Given the description of an element on the screen output the (x, y) to click on. 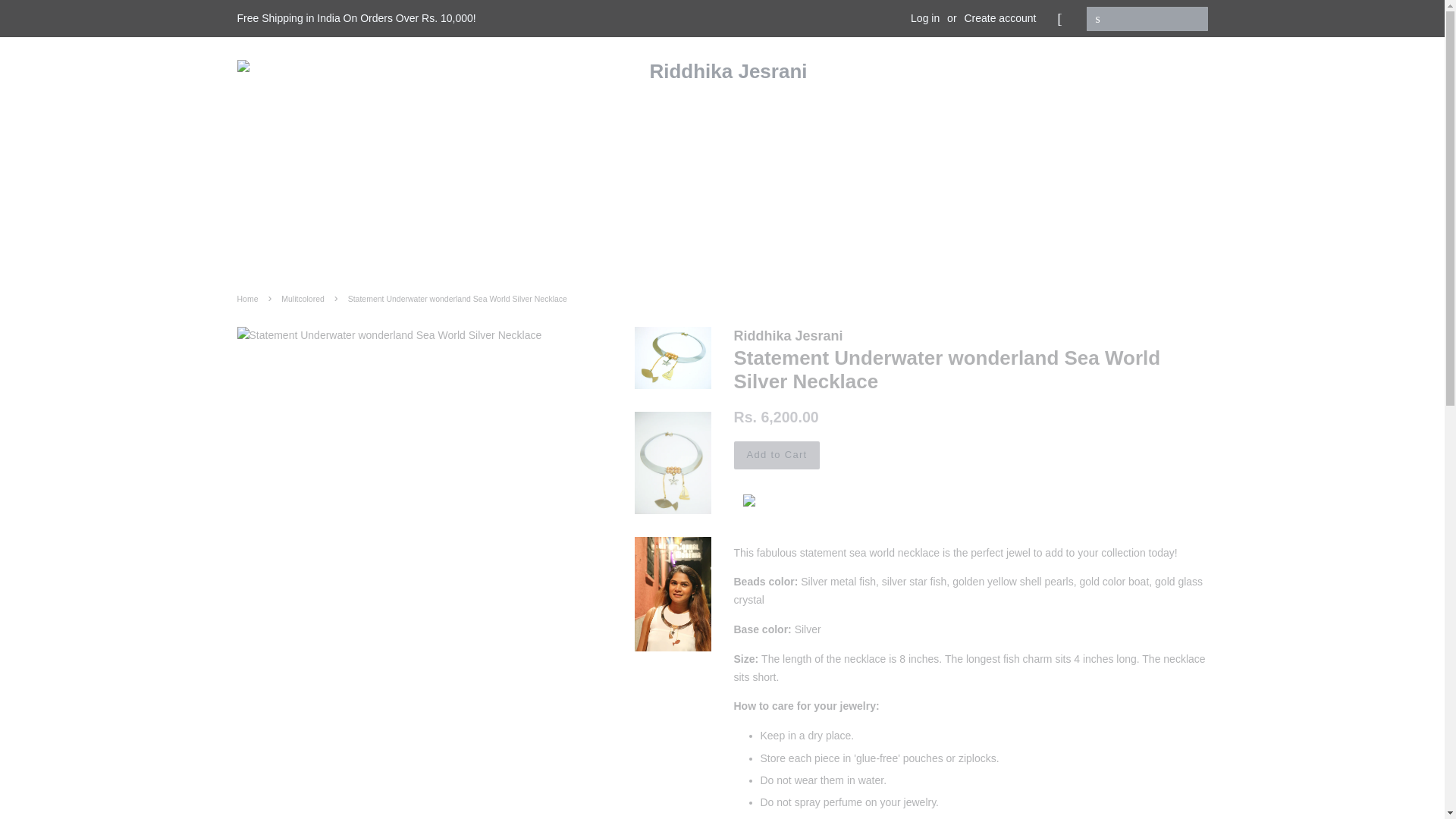
Log in (925, 18)
Search (1097, 18)
Create account (999, 18)
Back to the frontpage (248, 298)
